Given the description of an element on the screen output the (x, y) to click on. 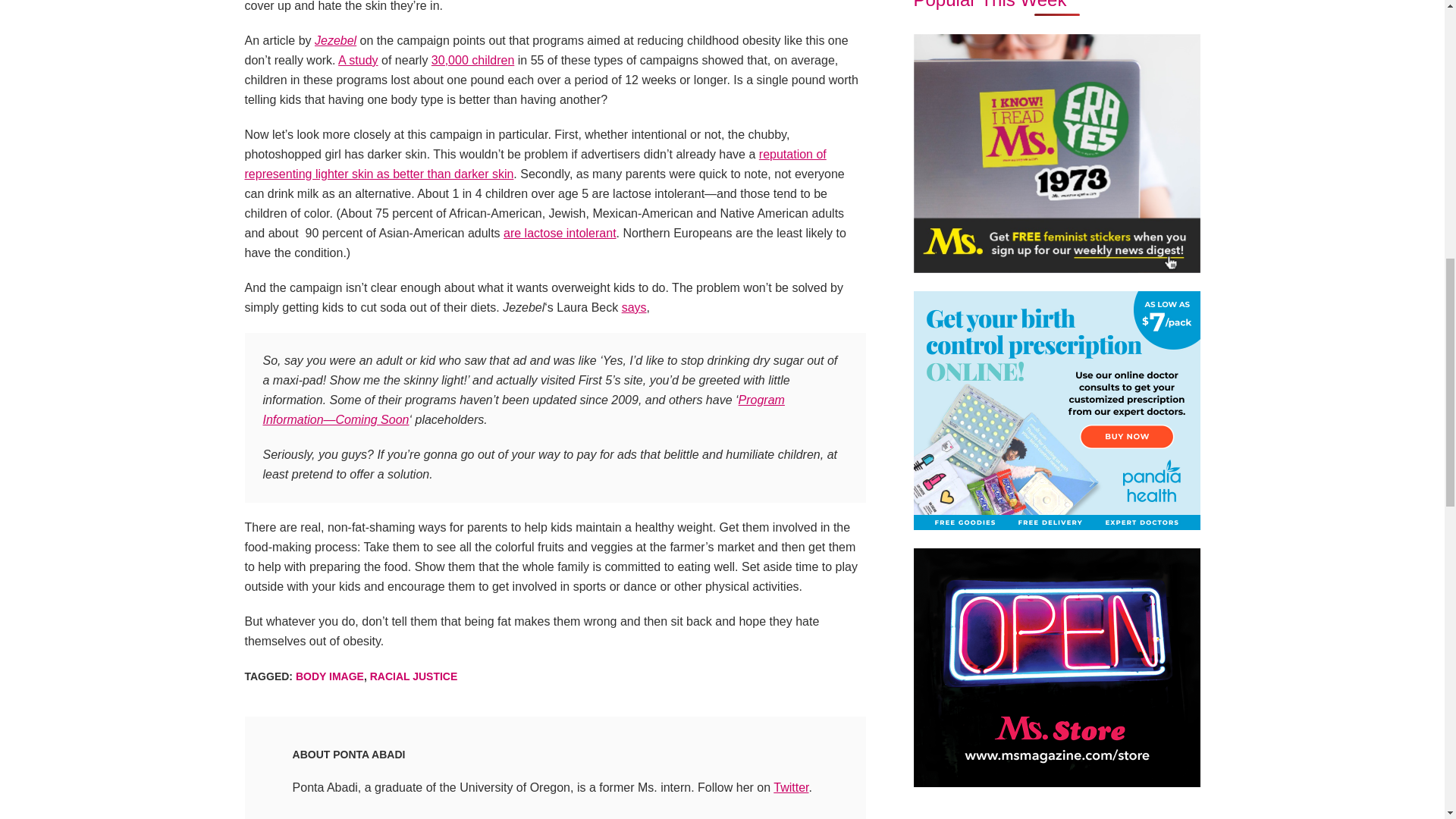
are lactose intolerant (559, 232)
Posts by Ponta Abadi (368, 754)
says (633, 307)
A study (357, 60)
30,000 children (471, 60)
Jezebel (335, 40)
